Given the description of an element on the screen output the (x, y) to click on. 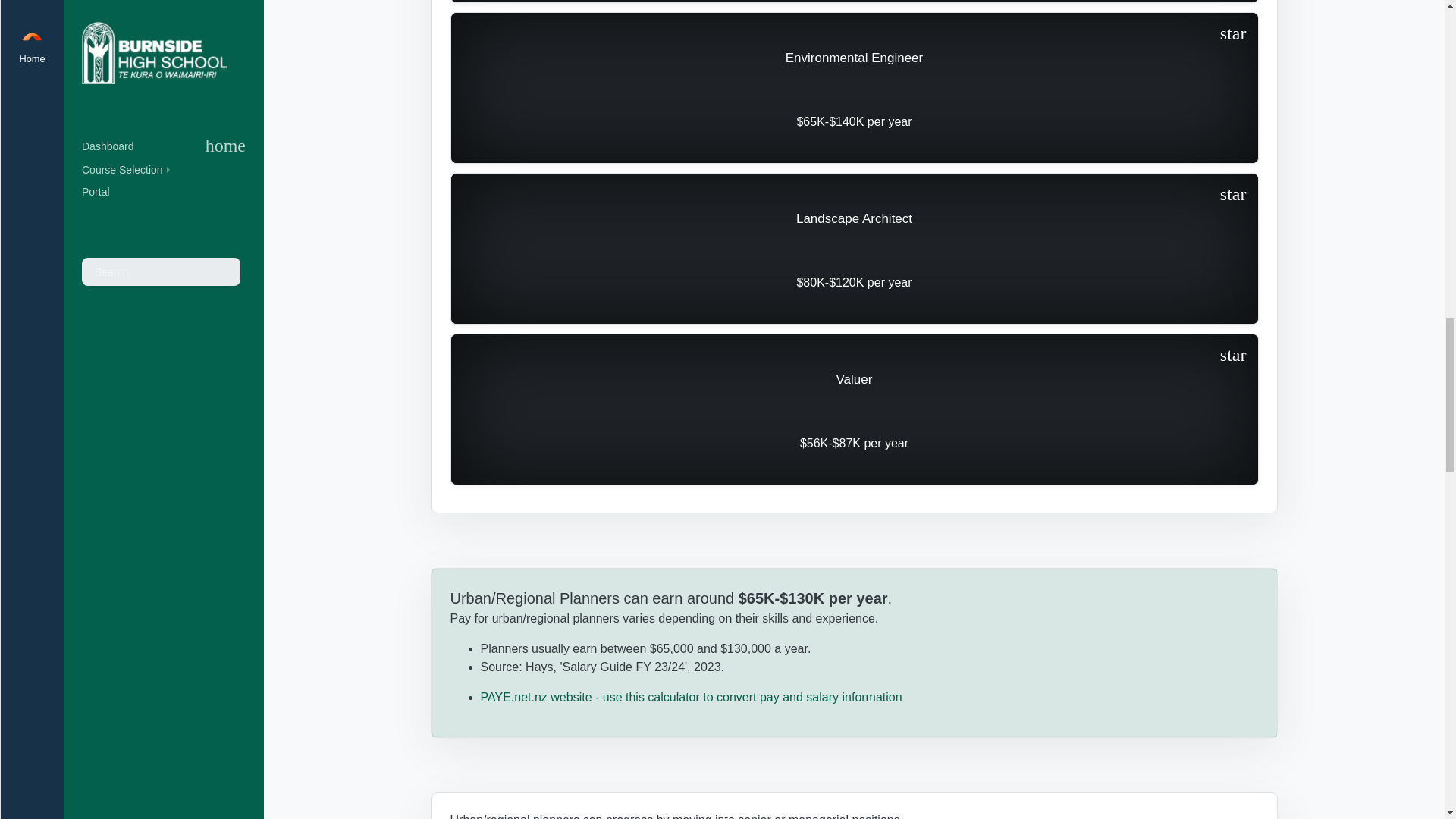
star (1233, 195)
star (1233, 34)
star (1233, 355)
